Given the description of an element on the screen output the (x, y) to click on. 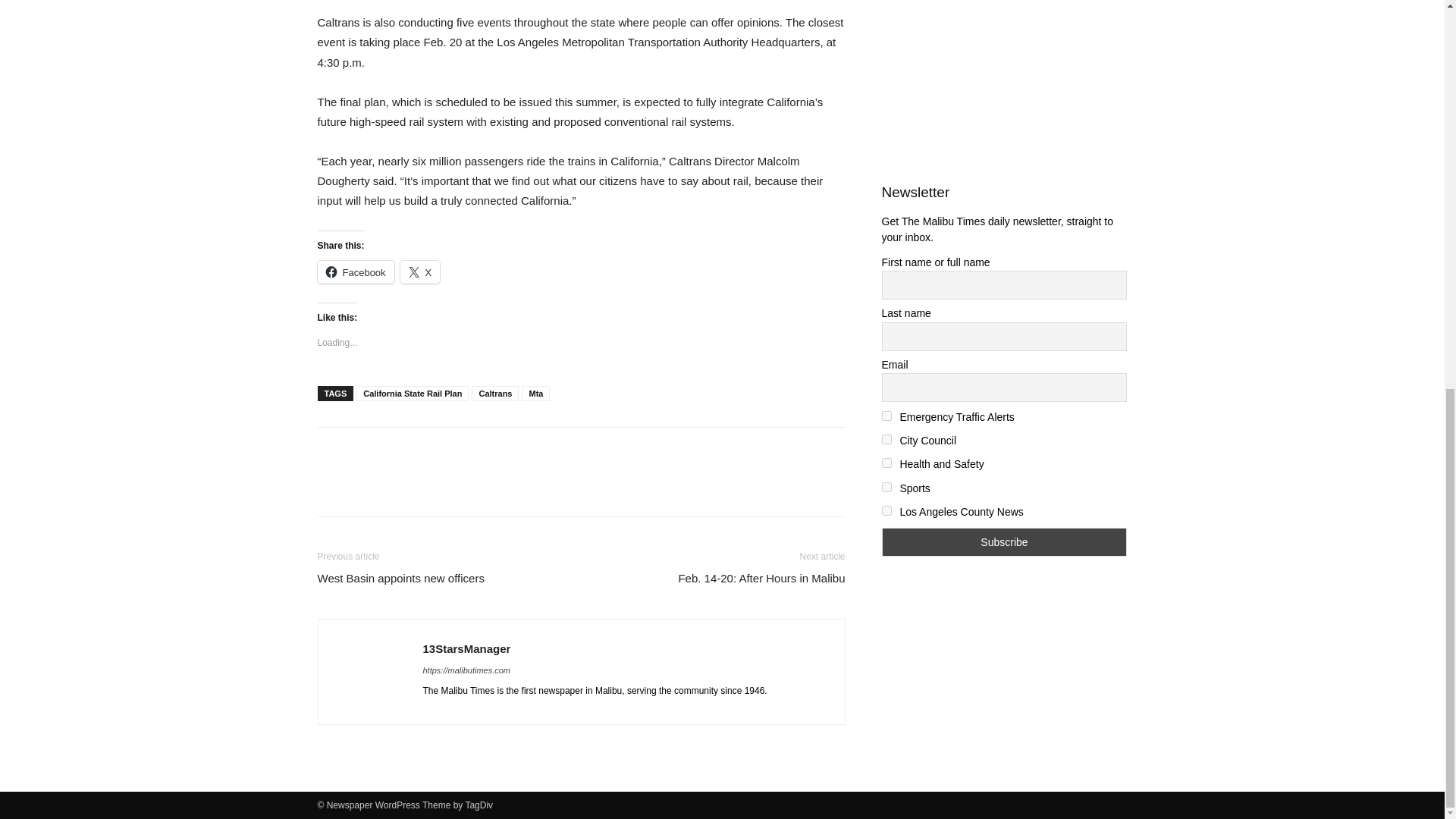
3 (885, 439)
6 (885, 510)
Click to share on X (420, 271)
4 (885, 462)
5 (885, 487)
2 (885, 415)
Click to share on Facebook (355, 271)
Subscribe (1003, 541)
